Given the description of an element on the screen output the (x, y) to click on. 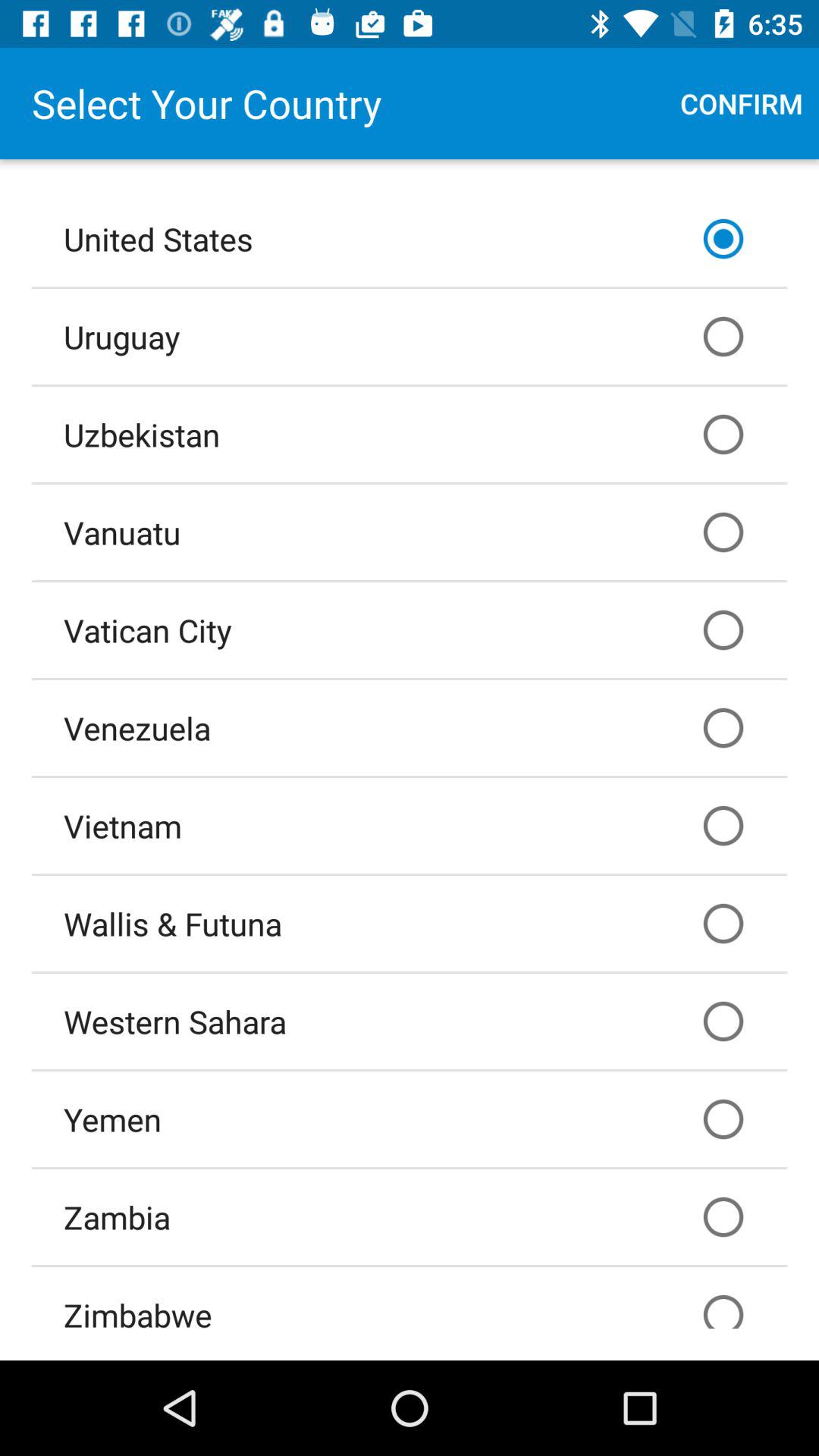
press item below the vietnam item (409, 923)
